Given the description of an element on the screen output the (x, y) to click on. 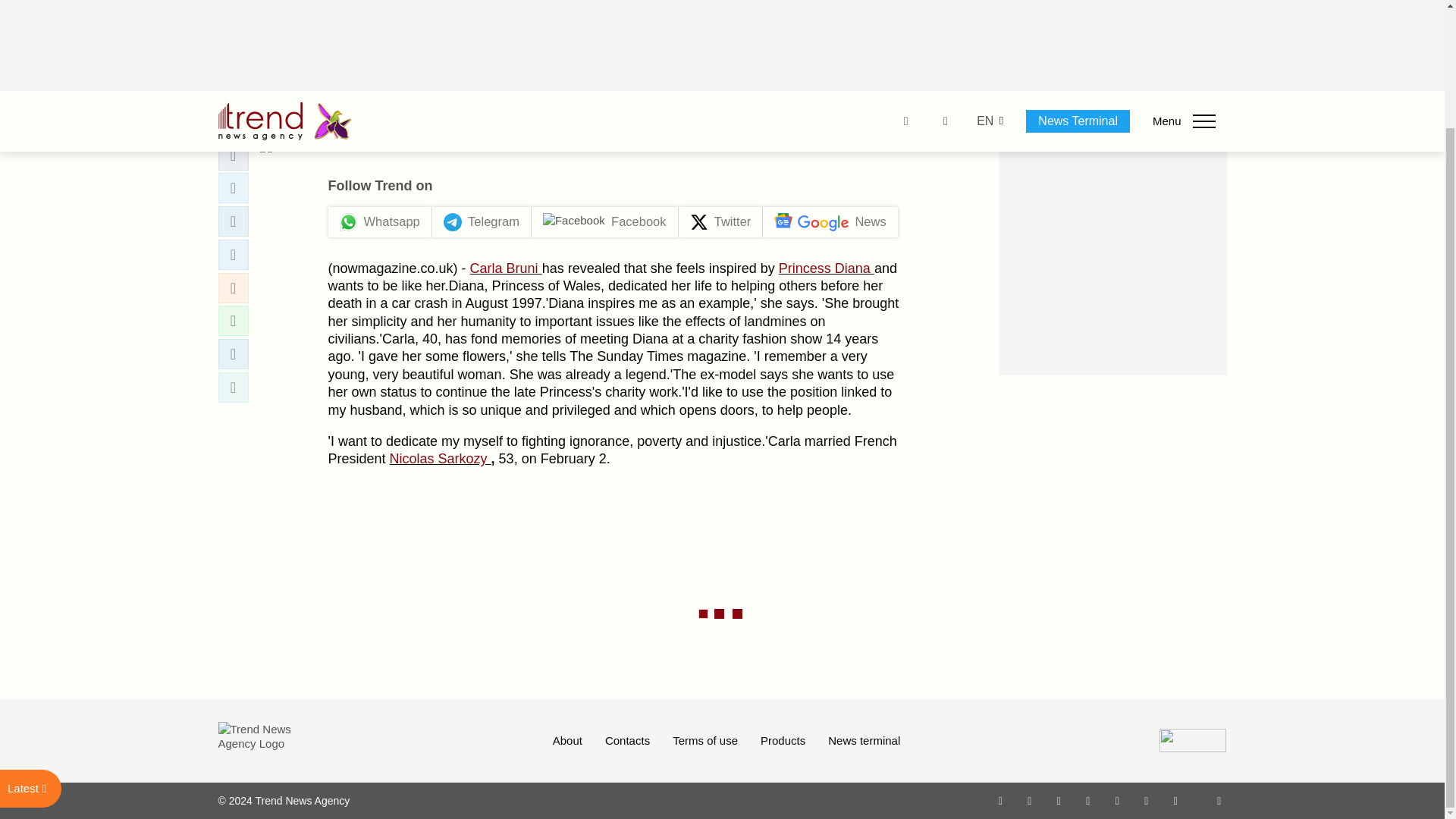
Twitter (1059, 800)
LinkedIn (1146, 800)
Youtube (1088, 800)
RSS Feed (1219, 800)
Facebook (1029, 800)
Android App (1176, 800)
Whatsapp (1000, 800)
Telegram (1117, 800)
